Given the description of an element on the screen output the (x, y) to click on. 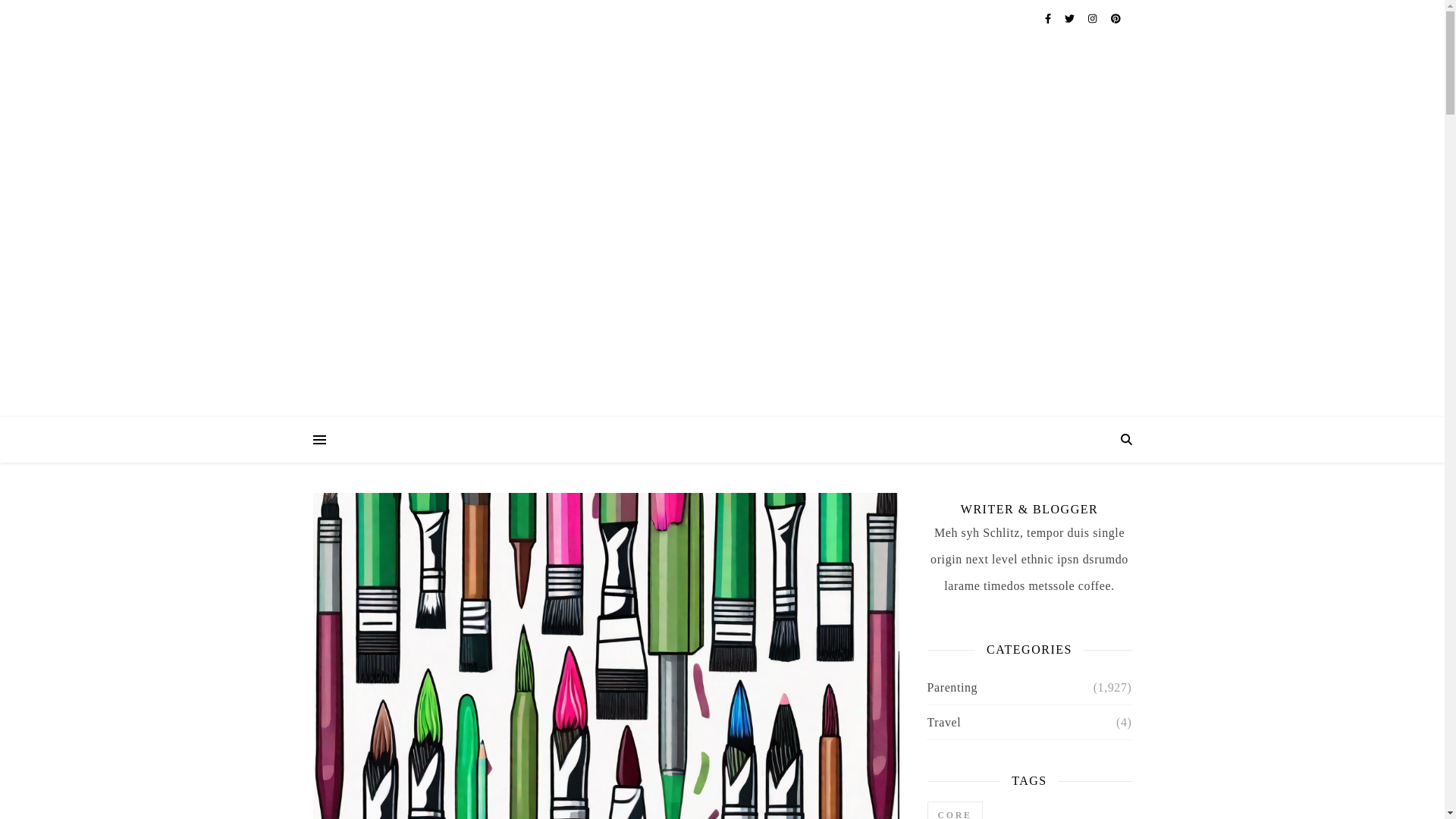
Parenting (951, 687)
Healthy Parenting Habits (721, 174)
Travel (943, 722)
CORE (953, 810)
